Given the description of an element on the screen output the (x, y) to click on. 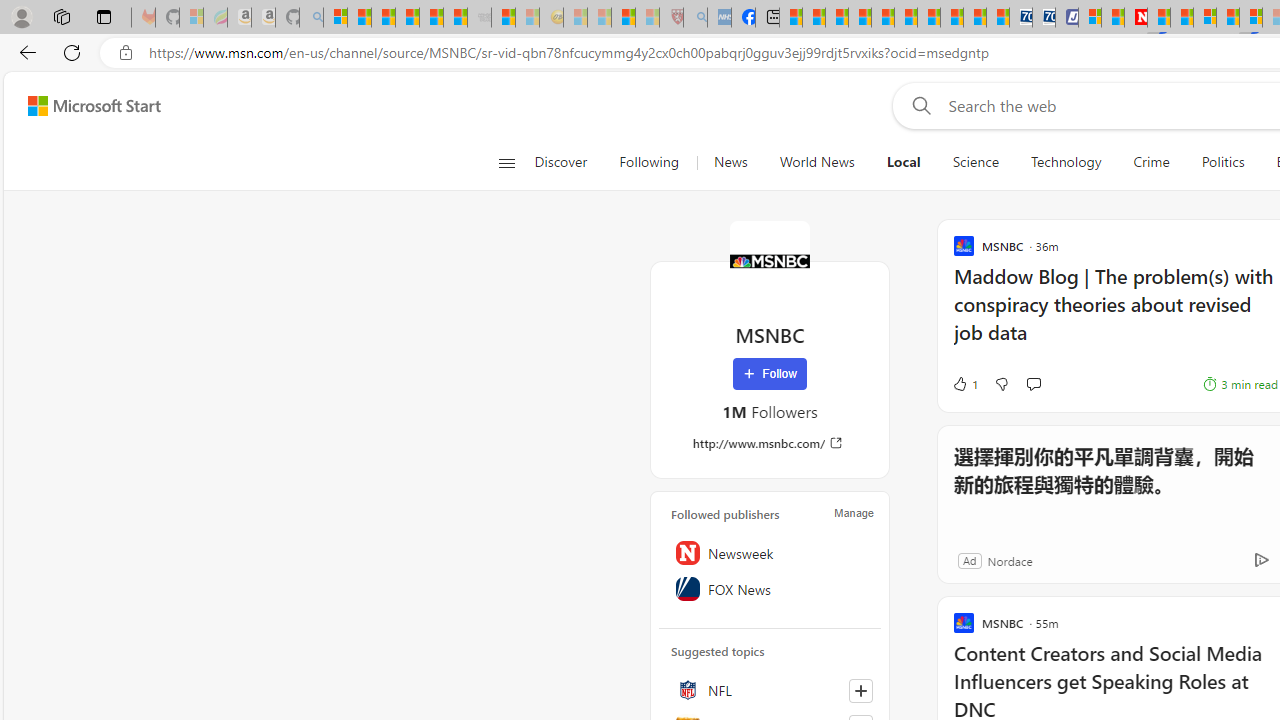
New Report Confirms 2023 Was Record Hot | Watch (430, 17)
